Given the description of an element on the screen output the (x, y) to click on. 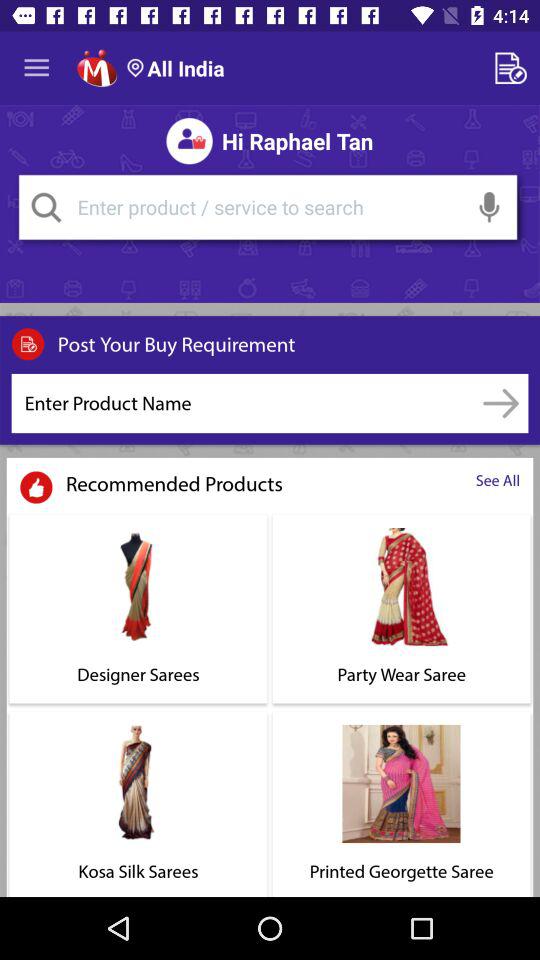
select microphone (489, 207)
